Given the description of an element on the screen output the (x, y) to click on. 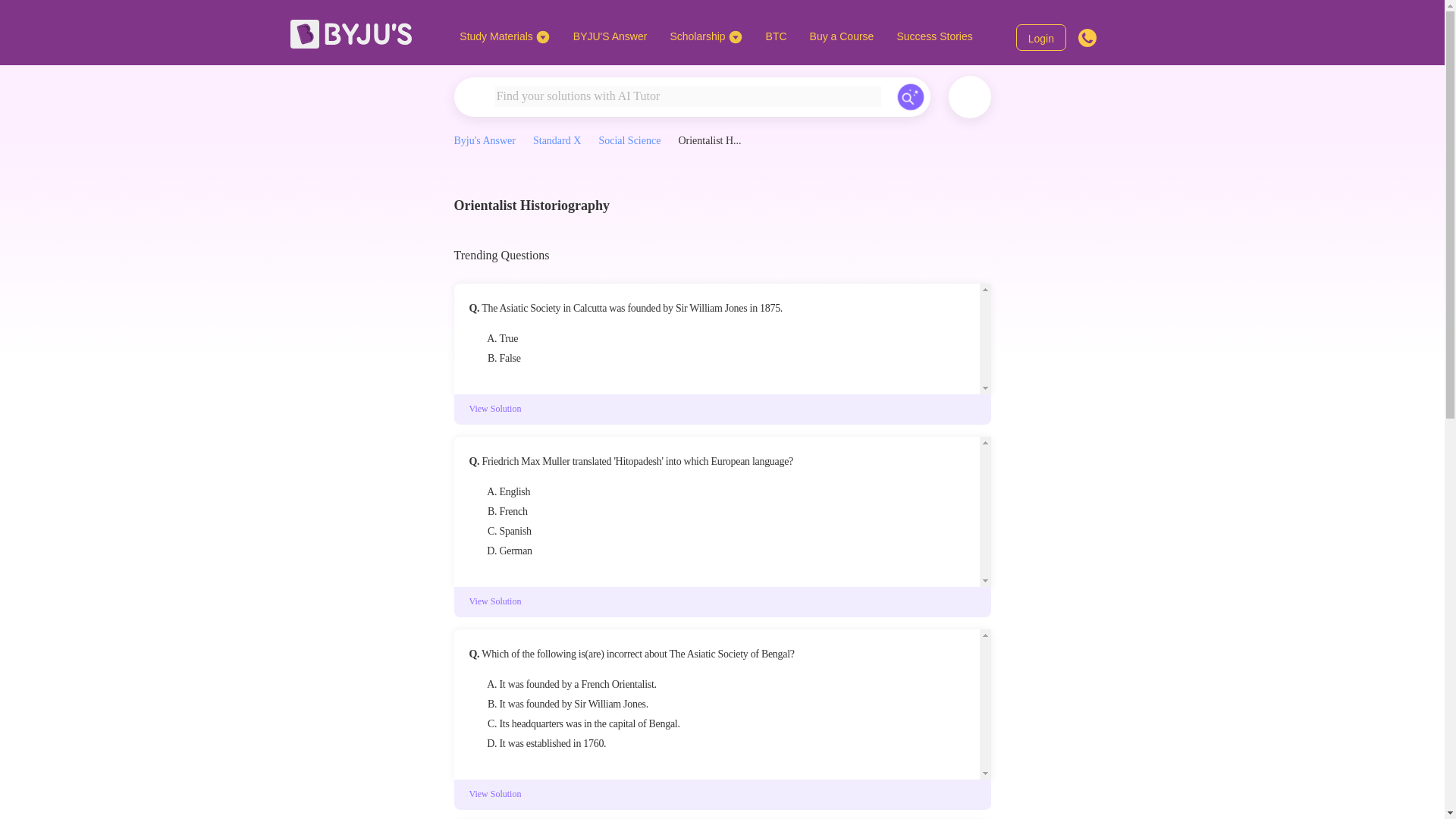
Study Materials (504, 35)
